Given the description of an element on the screen output the (x, y) to click on. 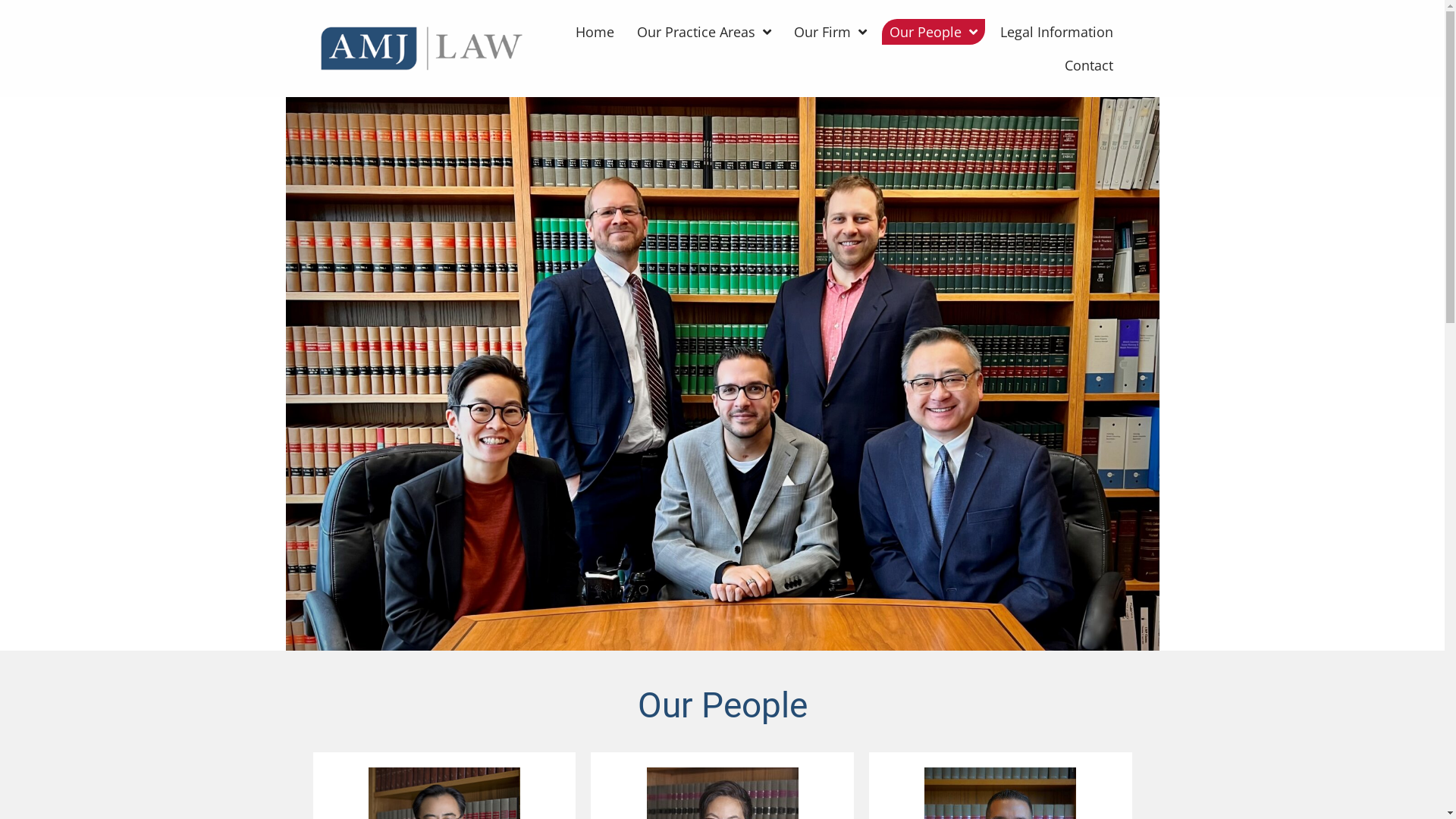
Contact Element type: text (1088, 65)
Our Practice Areas Element type: text (703, 31)
Legal Information Element type: text (1056, 31)
Submit Element type: text (730, 564)
Our People Element type: text (933, 31)
Our Firm Element type: text (830, 31)
Submit Element type: text (730, 495)
Home Element type: text (594, 31)
